Given the description of an element on the screen output the (x, y) to click on. 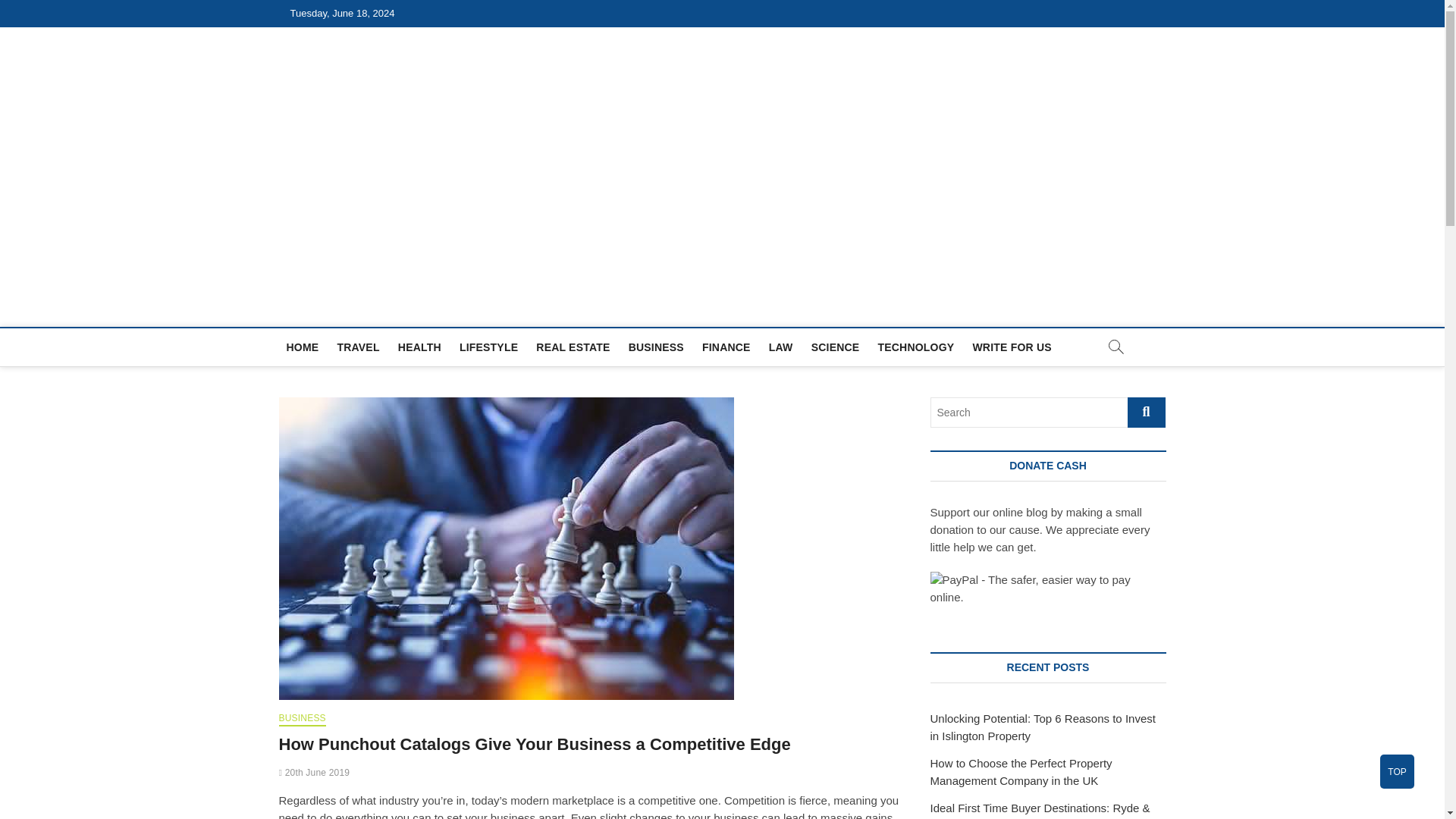
HEALTH (419, 347)
LIFESTYLE (488, 347)
Italy Mag (341, 308)
Italy Mag (341, 308)
LAW (780, 347)
20th June 2019 (314, 772)
HOME (302, 347)
SCIENCE (835, 347)
BUSINESS (302, 719)
